Given the description of an element on the screen output the (x, y) to click on. 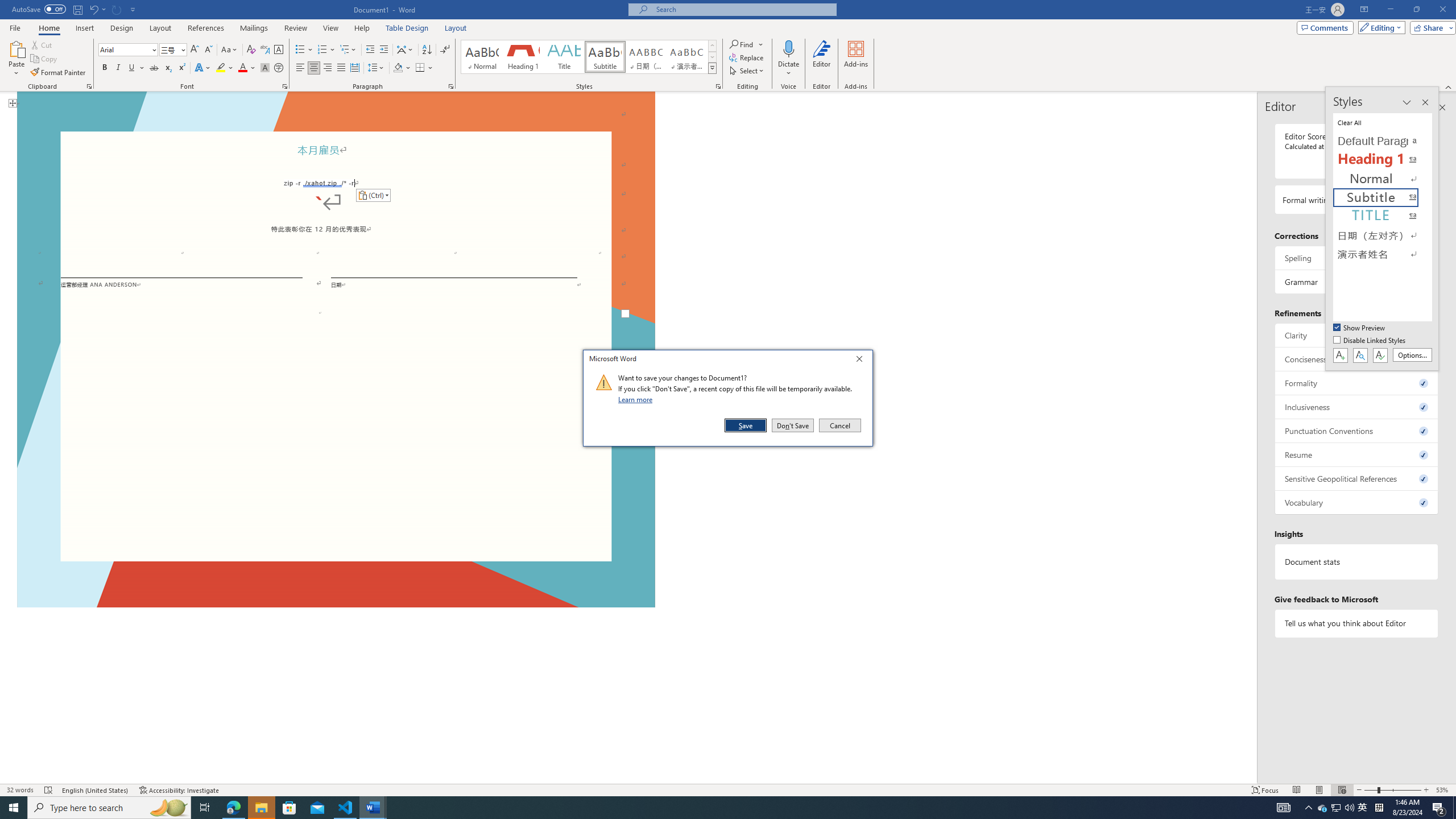
Spelling, 0 issues. Press space or enter to review items. (1356, 257)
Word - 2 running windows (373, 807)
